Given the description of an element on the screen output the (x, y) to click on. 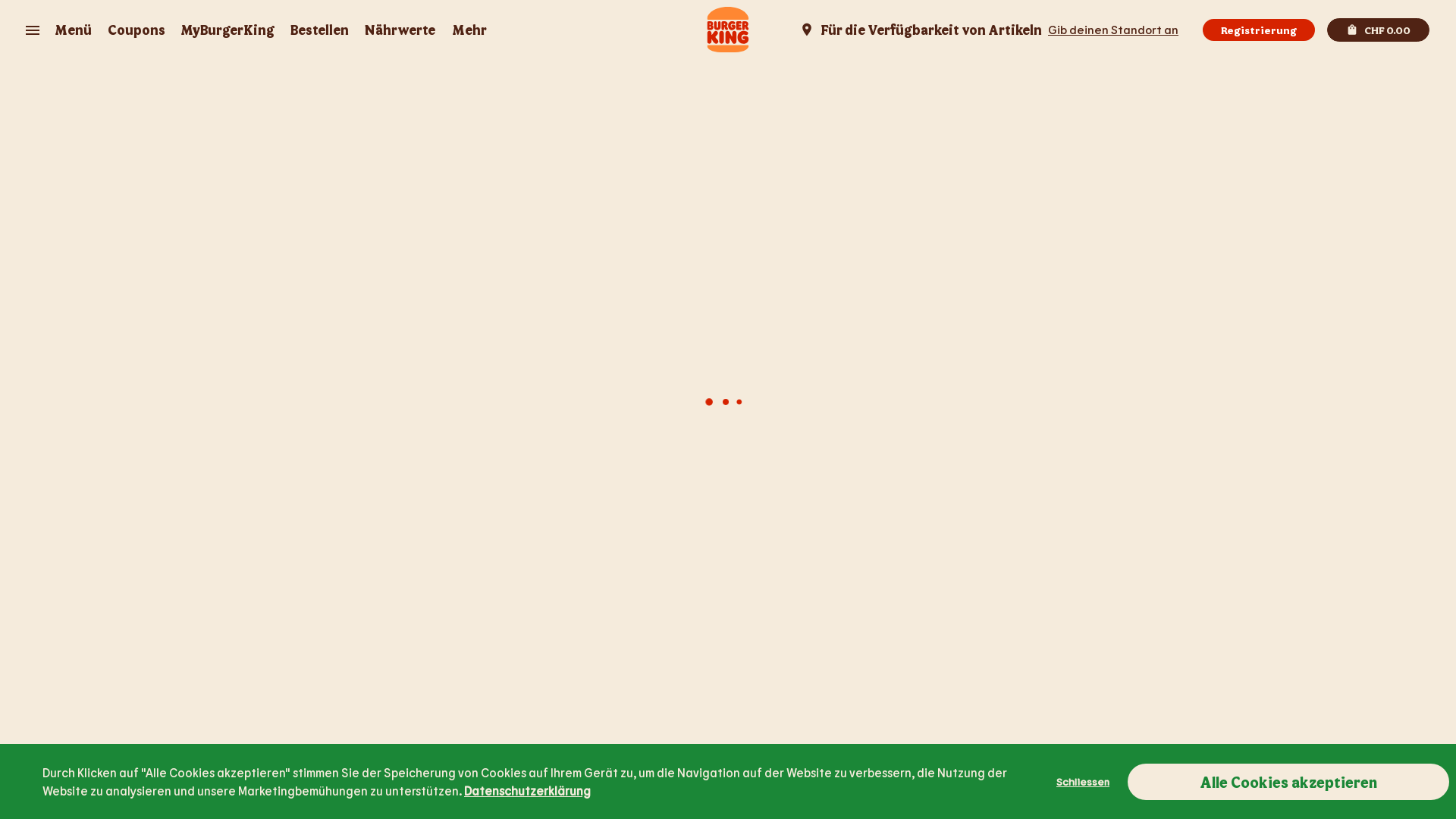
Warenkorb-Vorschau
CHF 0.00
Warenkorb gesamt Element type: text (1378, 29)
Alle Cookies akzeptieren Element type: text (1288, 780)
Burger King
Burger King Logo Element type: text (727, 29)
Gib deinen Standort an Element type: text (1113, 28)
Schliessen Element type: text (1091, 781)
Registrierung Element type: text (1258, 29)
